Given the description of an element on the screen output the (x, y) to click on. 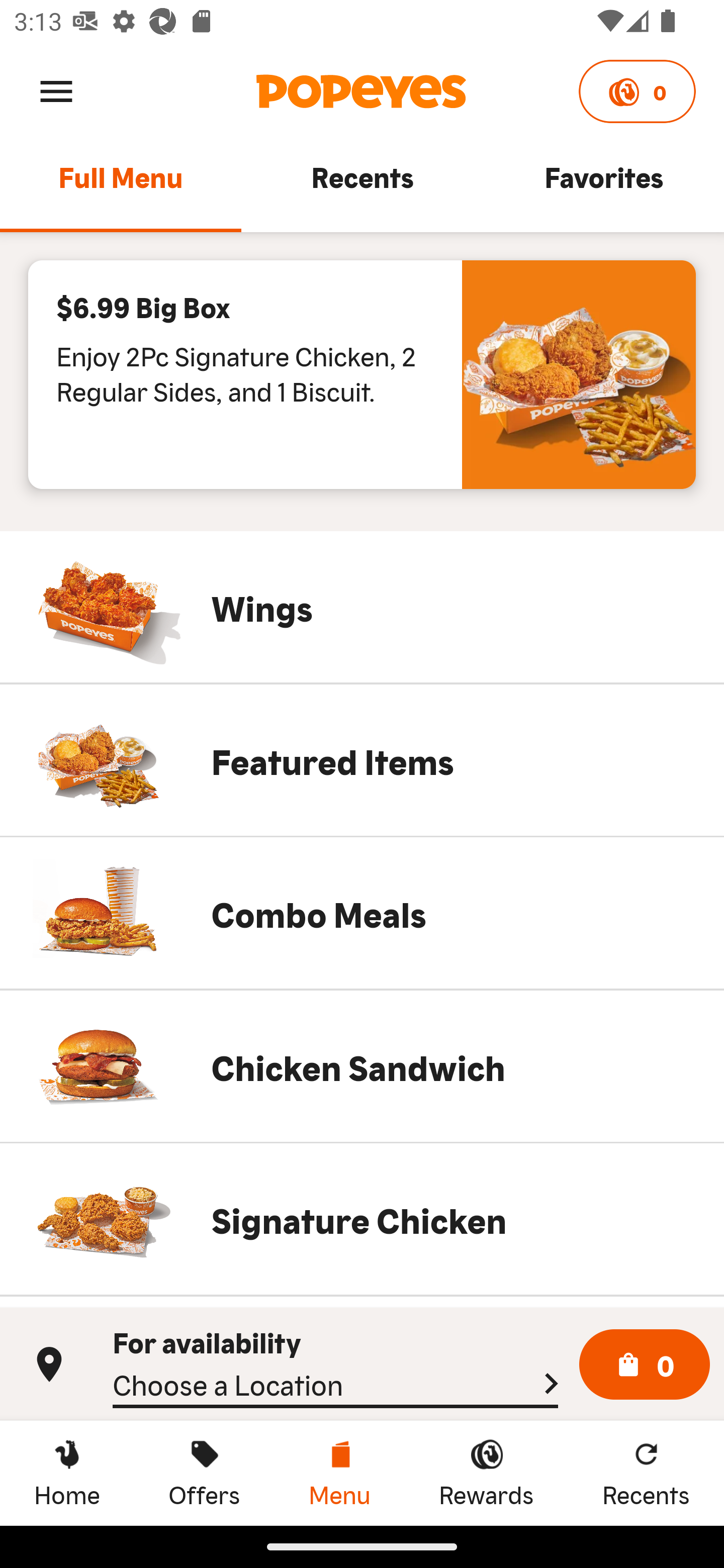
Menu  (56, 90)
0 Points 0 (636, 91)
Full Menu (120, 186)
Recents (361, 186)
Favorites (603, 186)
Wings, Wings Wings Wings (362, 606)
0 Cart total  0 (644, 1364)
Home Home Home (66, 1472)
Offers Offers Offers (203, 1472)
Menu, current page Menu Menu, current page (339, 1472)
Rewards Rewards Rewards (486, 1472)
Recents Recents Recents (646, 1472)
